Given the description of an element on the screen output the (x, y) to click on. 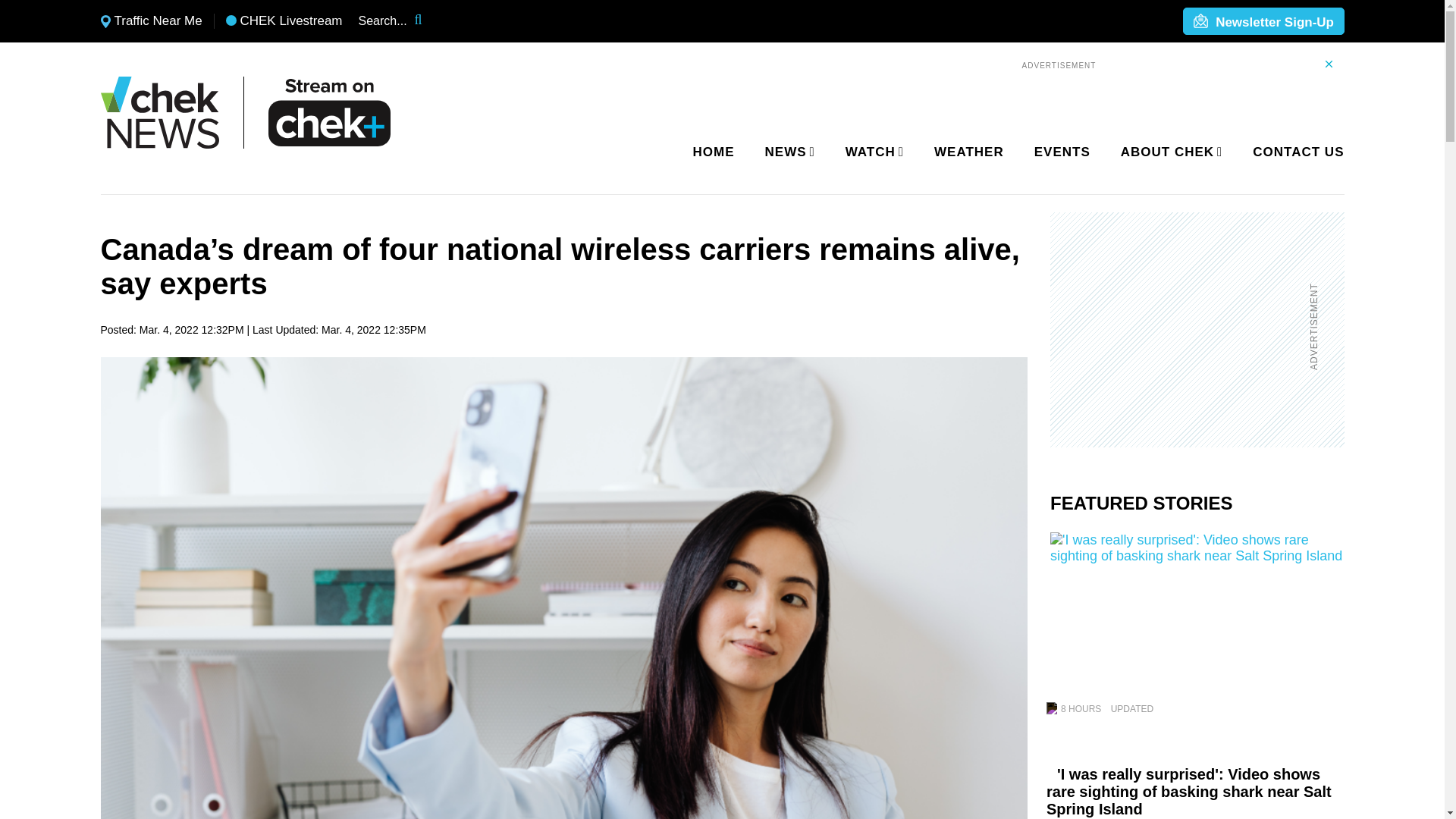
3rd party ad content (1059, 91)
Traffic Near Me (151, 20)
NEWS (787, 152)
Newsletter Sign-Up (1262, 22)
CHEK Livestream (283, 20)
Search (428, 21)
3rd party ad content (1187, 330)
HOME (714, 152)
